Given the description of an element on the screen output the (x, y) to click on. 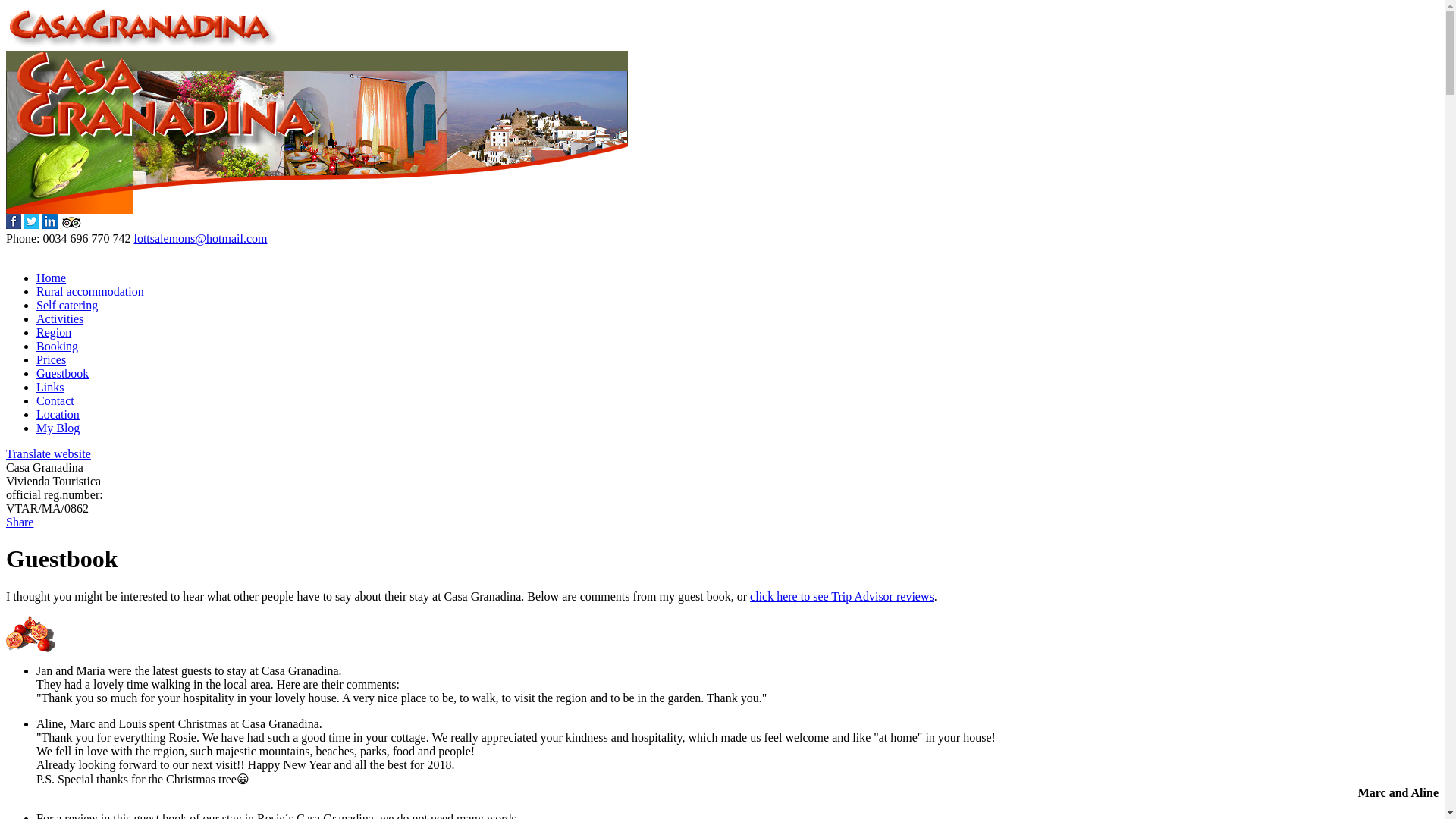
Region (53, 332)
Share (19, 521)
Contact (55, 400)
Casa Granadina on Twitter (31, 224)
Self catering (66, 305)
see Trip Advisor reviews (841, 595)
Prices (50, 359)
Rural accommodation (90, 291)
click here to see Trip Advisor reviews (841, 595)
